Given the description of an element on the screen output the (x, y) to click on. 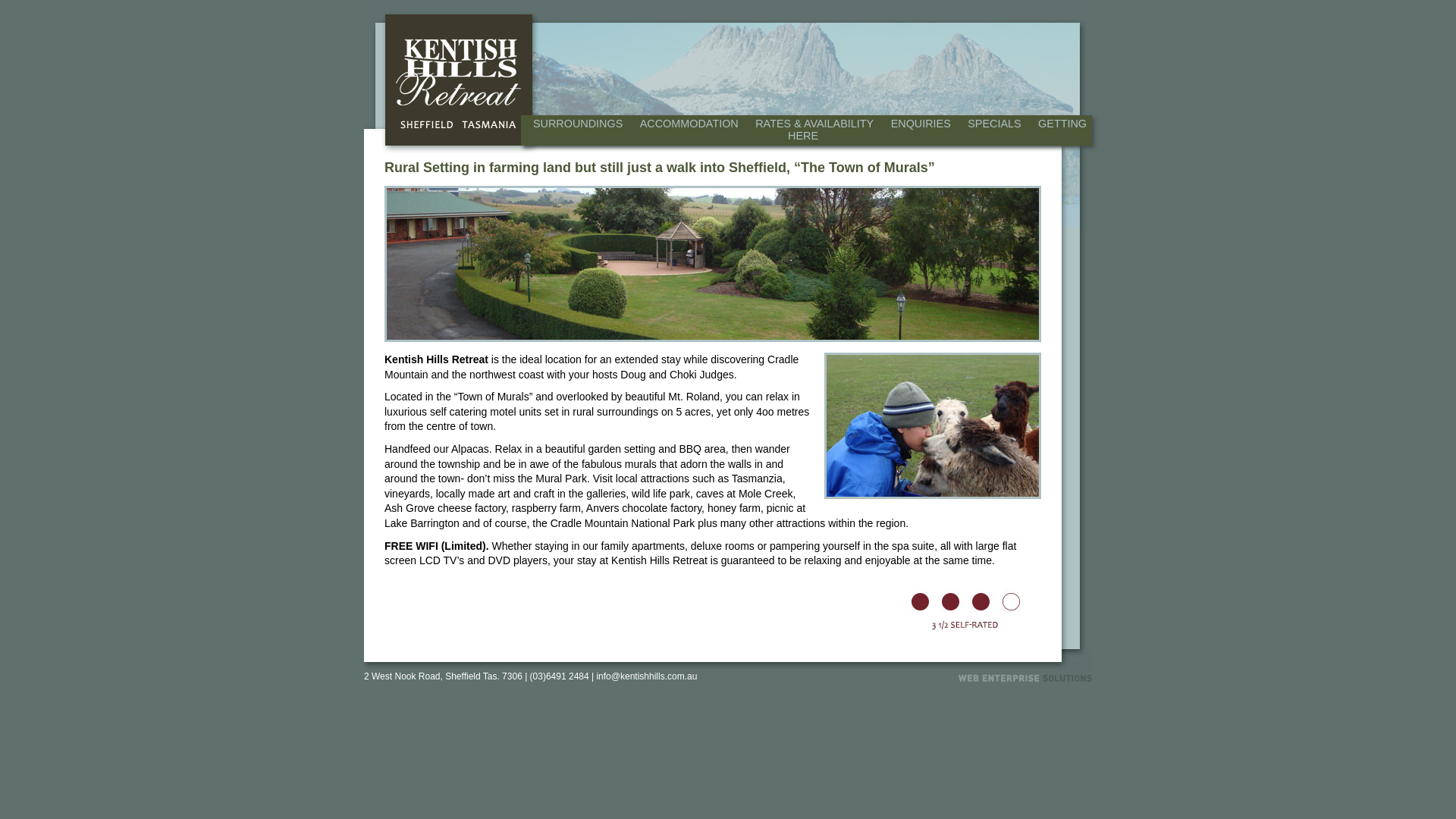
ACCOMMODATION Element type: text (689, 123)
Kentish Hills Retreat Element type: text (458, 79)
SPECIALS Element type: text (993, 123)
SURROUNDINGS Element type: text (577, 123)
Web Enterprise Solutions Element type: text (1025, 678)
ENQUIRIES Element type: text (920, 123)
GETTING HERE Element type: text (936, 129)
RATES & AVAILABILITY Element type: text (814, 123)
